Given the description of an element on the screen output the (x, y) to click on. 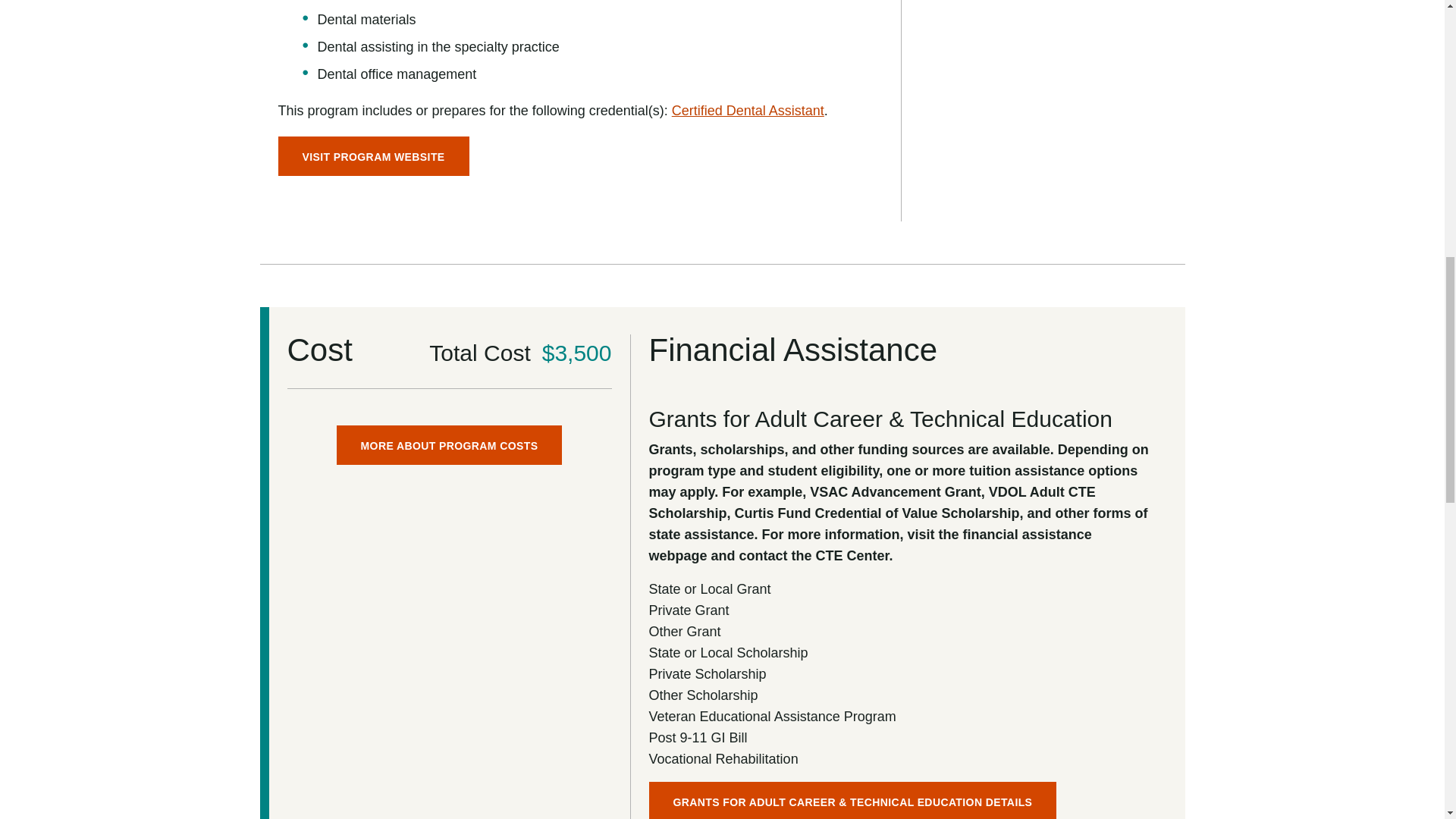
VISIT PROGRAM WEBSITE (373, 156)
MORE ABOUT PROGRAM COSTS (449, 445)
Certified Dental Assistant (747, 110)
